Given the description of an element on the screen output the (x, y) to click on. 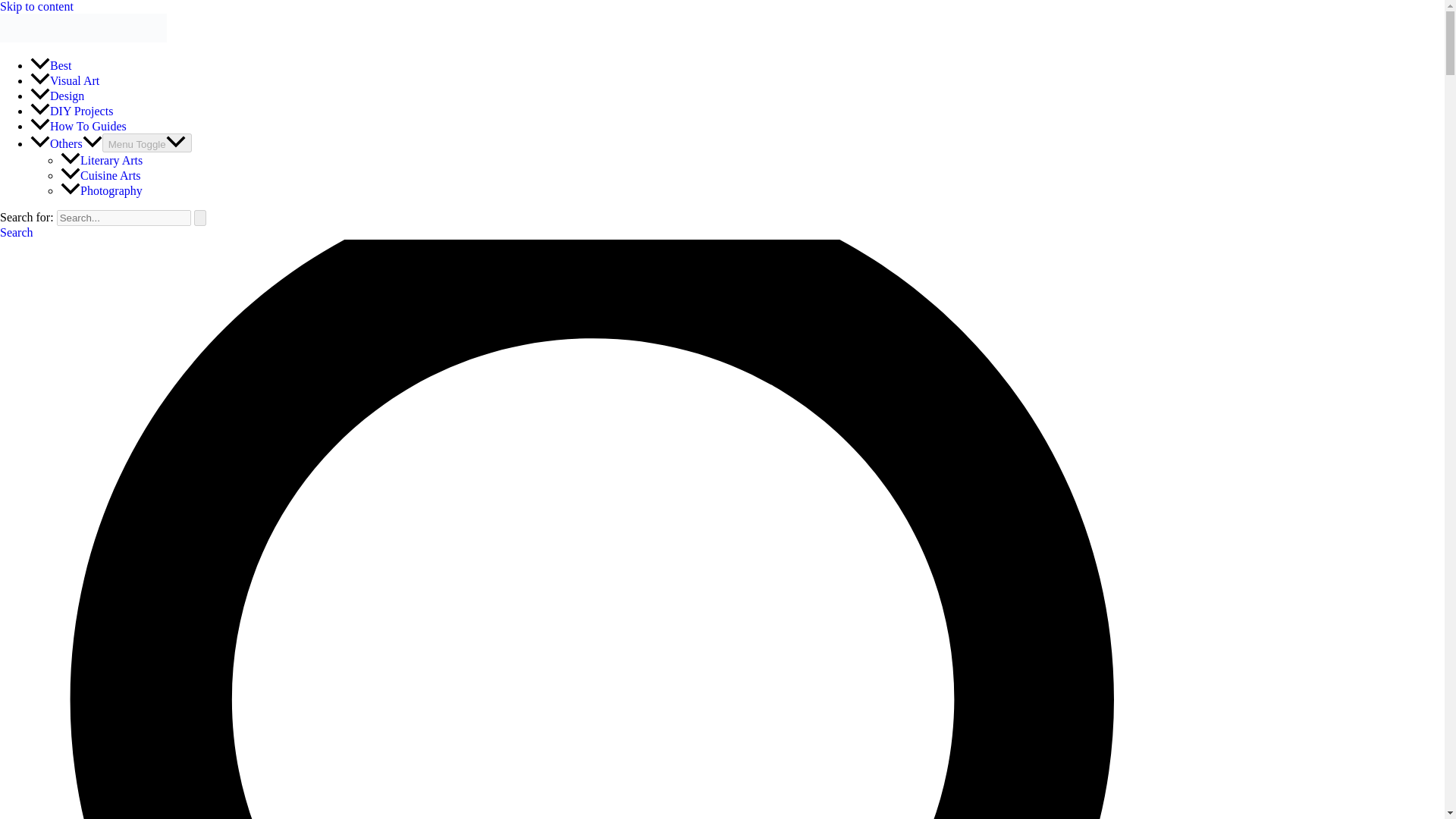
Visual Art (64, 80)
Skip to content (37, 6)
Skip to content (37, 6)
DIY Projects (71, 110)
Design (57, 95)
Literary Arts (101, 160)
Others (65, 143)
Photography (101, 190)
How To Guides (78, 125)
Menu Toggle (146, 142)
Cuisine Arts (101, 174)
Best (50, 65)
